Given the description of an element on the screen output the (x, y) to click on. 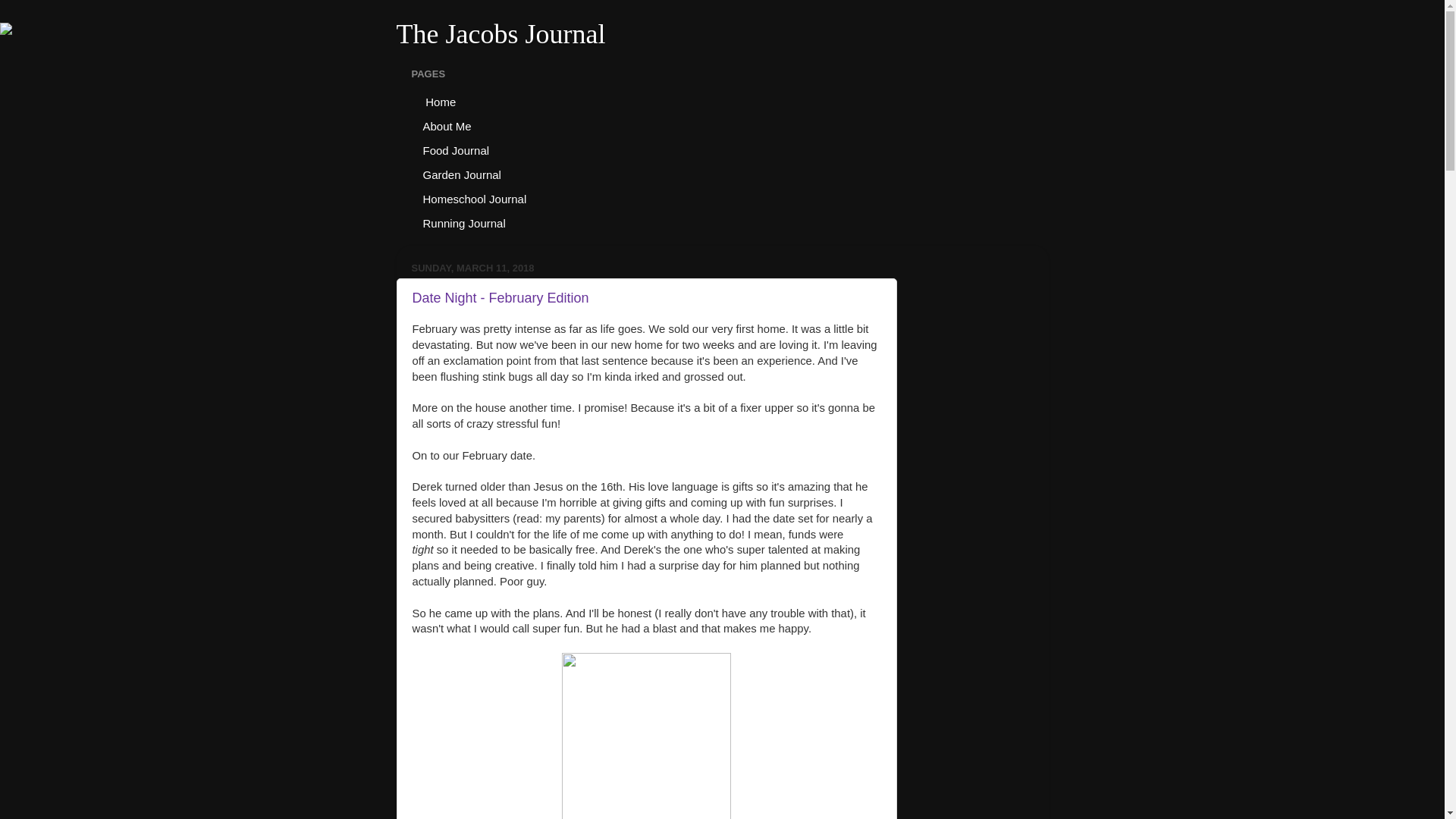
Running Journal (463, 223)
Home (438, 102)
Homeschool Journal (474, 199)
Date Night - February Edition (500, 297)
The Jacobs Journal (500, 33)
About Me (446, 126)
Food Journal (455, 150)
Garden Journal (461, 174)
